Given the description of an element on the screen output the (x, y) to click on. 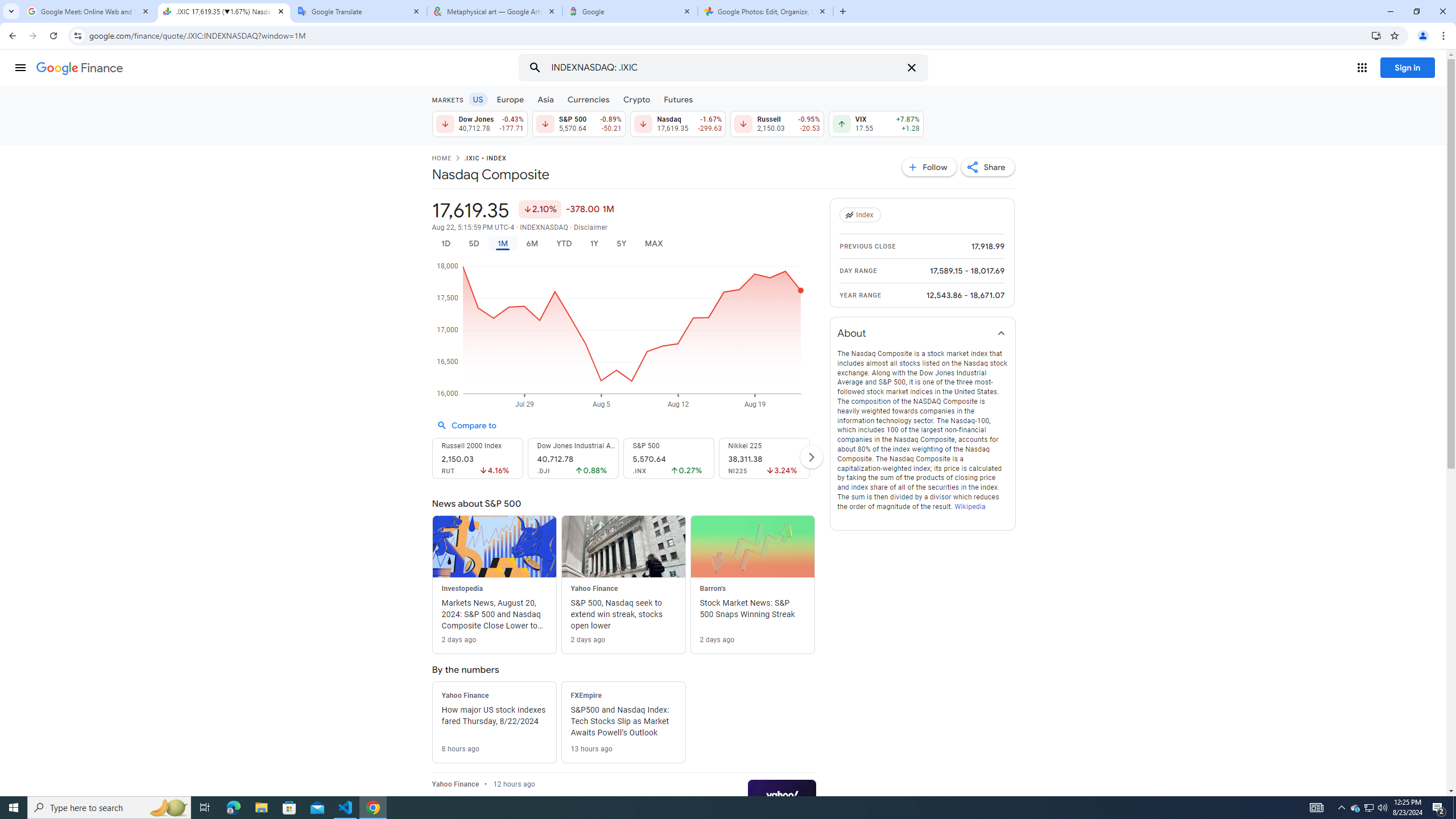
Disclaimer (590, 227)
Currencies (588, 99)
Follow (929, 167)
Russell 2,150.03 Down by 0.95% -20.53 (777, 123)
Index (861, 214)
